Given the description of an element on the screen output the (x, y) to click on. 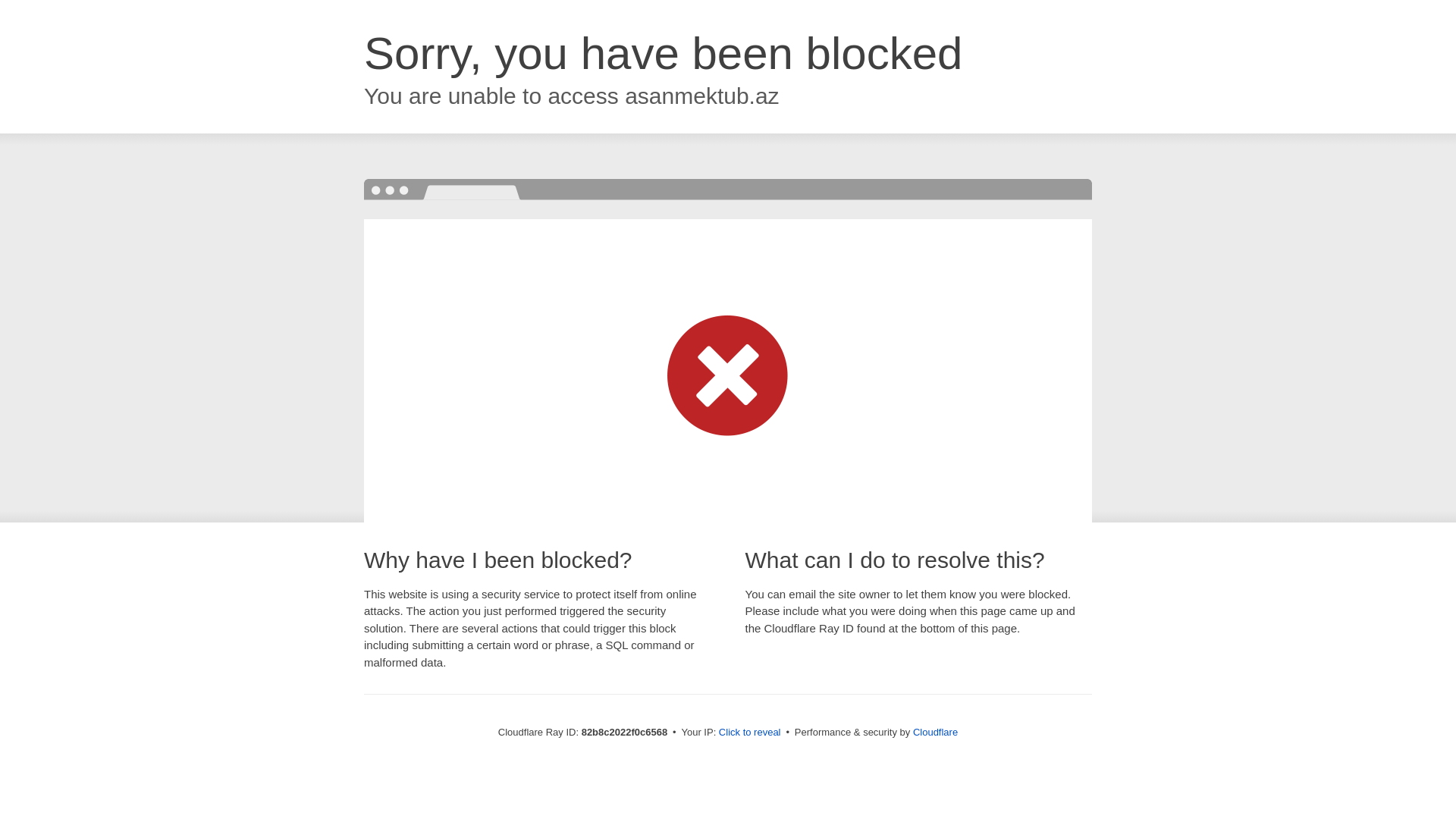
Click to reveal Element type: text (749, 732)
Cloudflare Element type: text (935, 731)
